Given the description of an element on the screen output the (x, y) to click on. 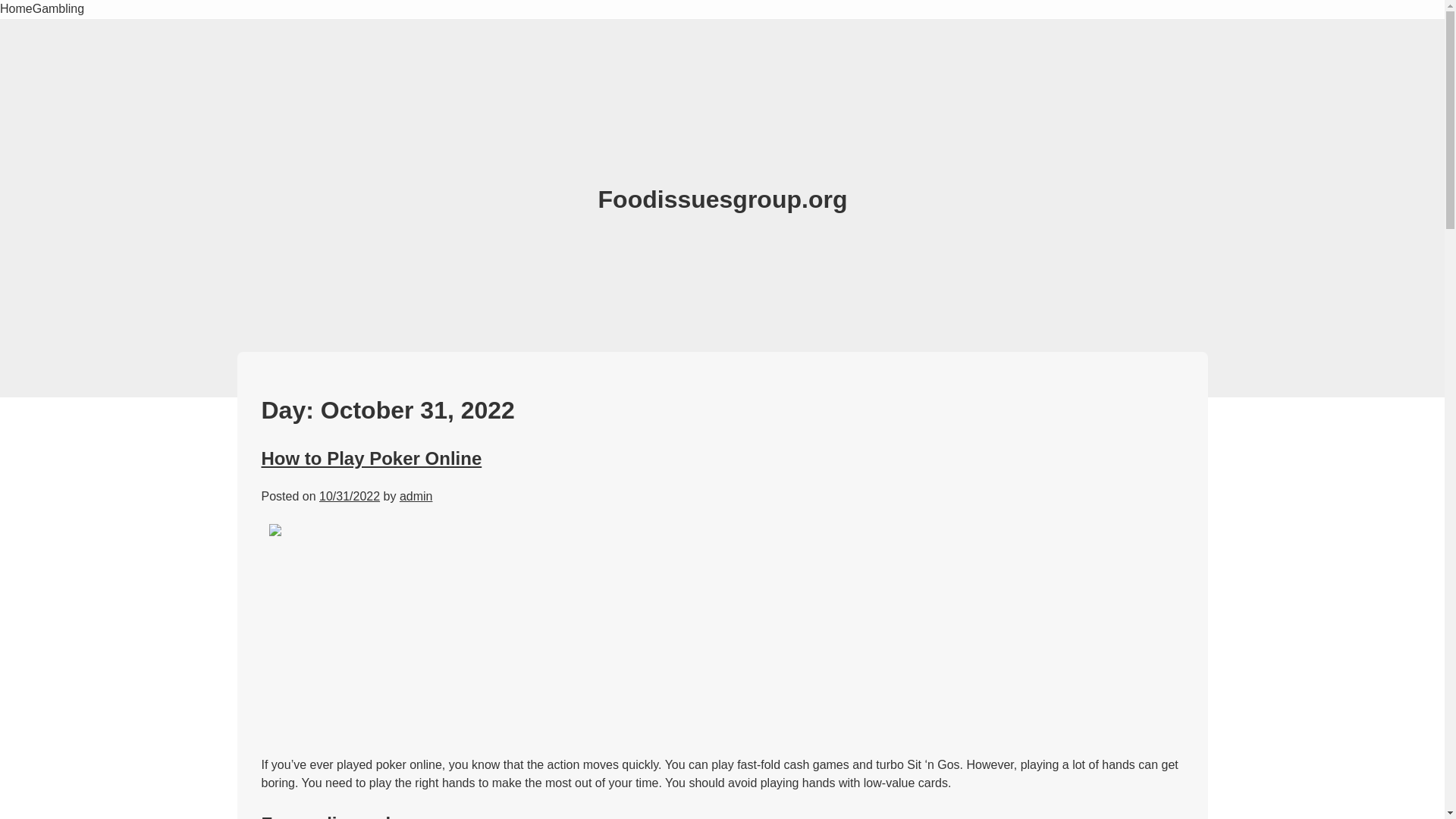
Gambling (58, 9)
How to Play Poker Online (370, 457)
Home (16, 9)
admin (415, 495)
